Given the description of an element on the screen output the (x, y) to click on. 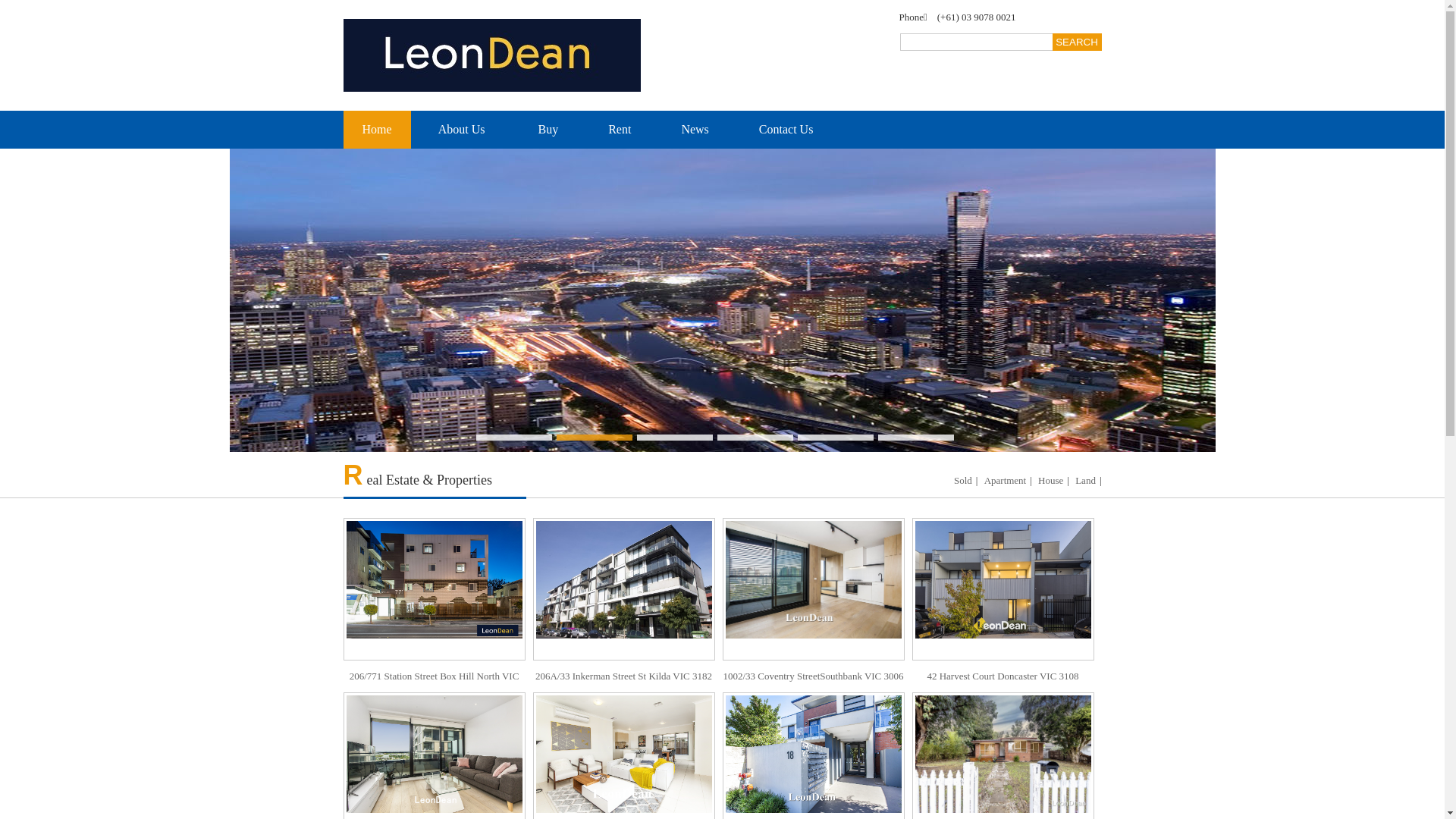
42 Harvest Court Doncaster VIC 3108 Element type: text (1002, 604)
1 Element type: text (514, 437)
  News   Element type: text (694, 129)
Apartment Element type: text (1005, 480)
Sold Element type: text (962, 480)
1002/33 Coventry StreetSouthbank VIC 3006 Element type: text (812, 604)
  Contact Us   Element type: text (786, 129)
3 Element type: text (674, 437)
5 Element type: text (835, 437)
SEARCH Element type: text (1076, 41)
   About Us    Element type: text (462, 129)
Land Element type: text (1085, 480)
  Rent   Element type: text (619, 129)
4 Element type: text (755, 437)
House Element type: text (1050, 480)
2 Element type: text (594, 437)
Home Element type: text (376, 129)
206/771 Station Street Box Hill North VIC 3129 Element type: text (433, 620)
6 Element type: text (915, 437)
  Buy   Element type: text (548, 129)
